Given the description of an element on the screen output the (x, y) to click on. 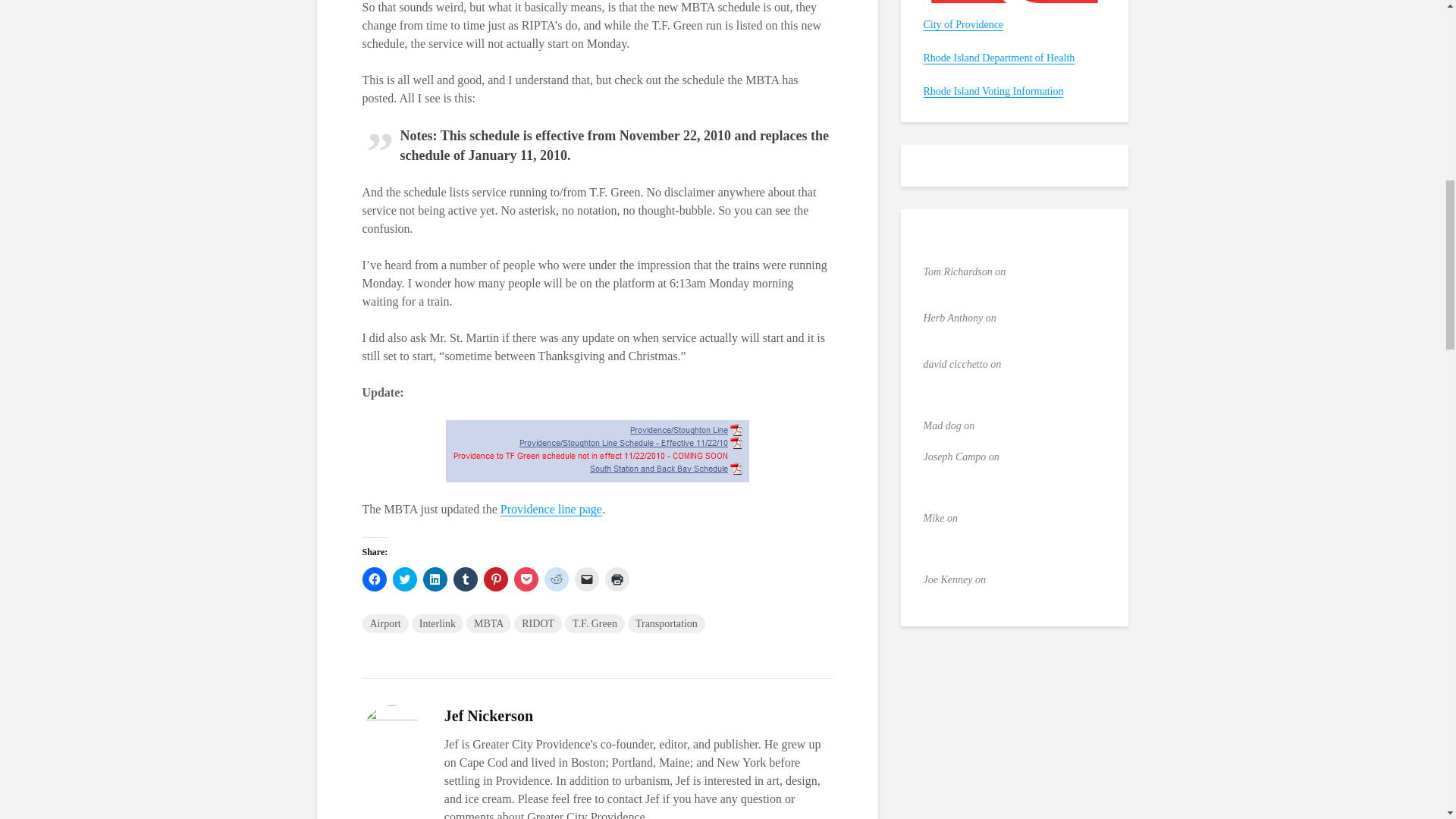
MBTA (551, 509)
Click to share on Pocket (525, 579)
Click to share on Twitter (404, 579)
Click to share on Pinterest (495, 579)
Click to share on Reddit (556, 579)
Click to share on Tumblr (464, 579)
Click to email a link to a friend (586, 579)
Click to share on Facebook (374, 579)
Click to share on LinkedIn (434, 579)
mbta (597, 451)
